Given the description of an element on the screen output the (x, y) to click on. 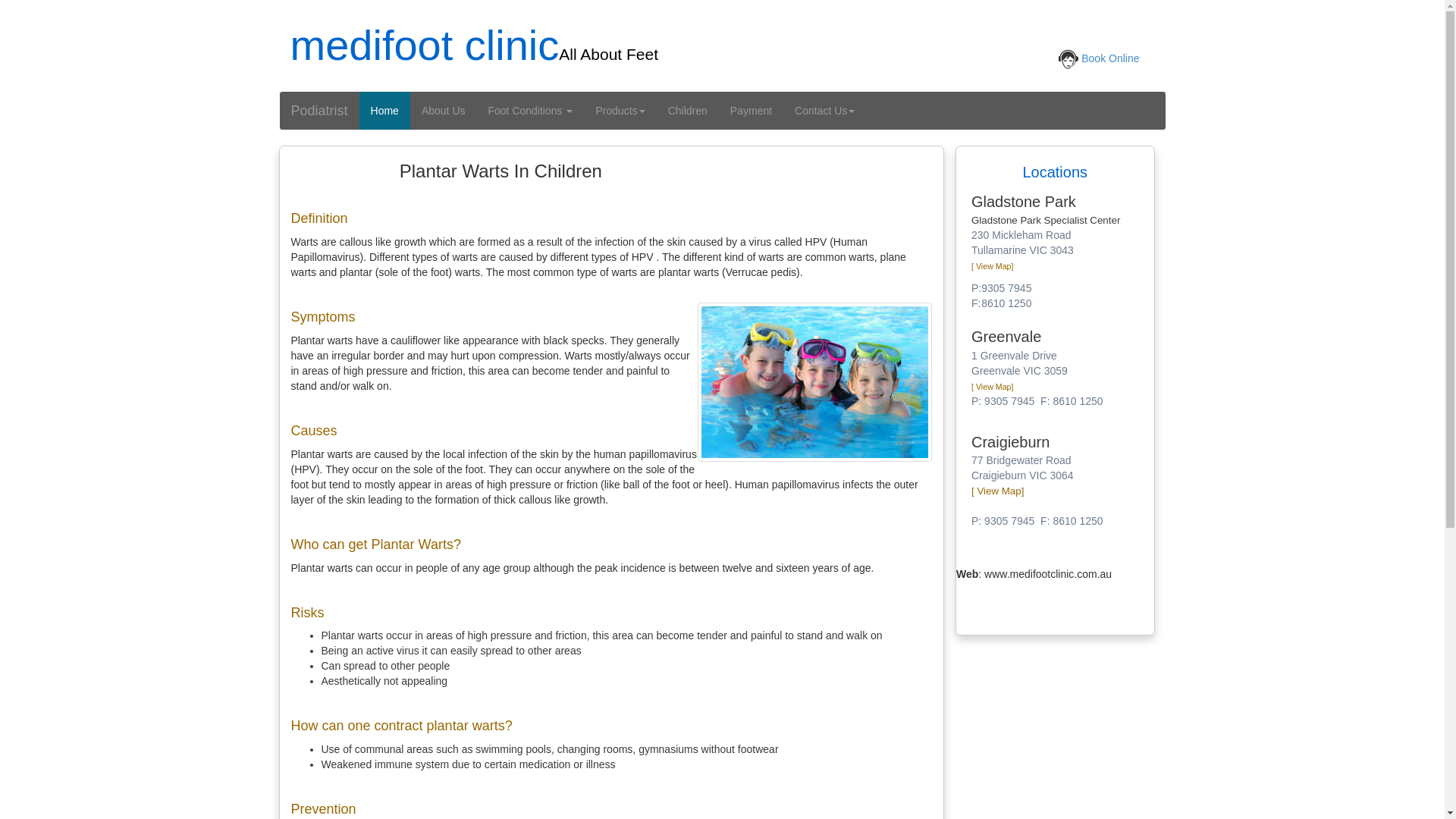
[ View Map] Element type: text (992, 265)
Contact Us Element type: text (824, 110)
Book Appointmnet Online Element type: hover (1068, 59)
Book Online Element type: text (1110, 58)
Products Element type: text (619, 110)
medifoot clinicAll About Feet Element type: text (473, 56)
Plantar Warts In Children Element type: hover (814, 381)
Payment Element type: text (750, 110)
Children Element type: text (687, 110)
Podiatrist Element type: text (318, 110)
About Us Element type: text (443, 110)
Foot Conditions Element type: text (529, 110)
[ View Map] Element type: text (992, 386)
[ View Map] Element type: text (997, 490)
Home Element type: text (384, 110)
